Given the description of an element on the screen output the (x, y) to click on. 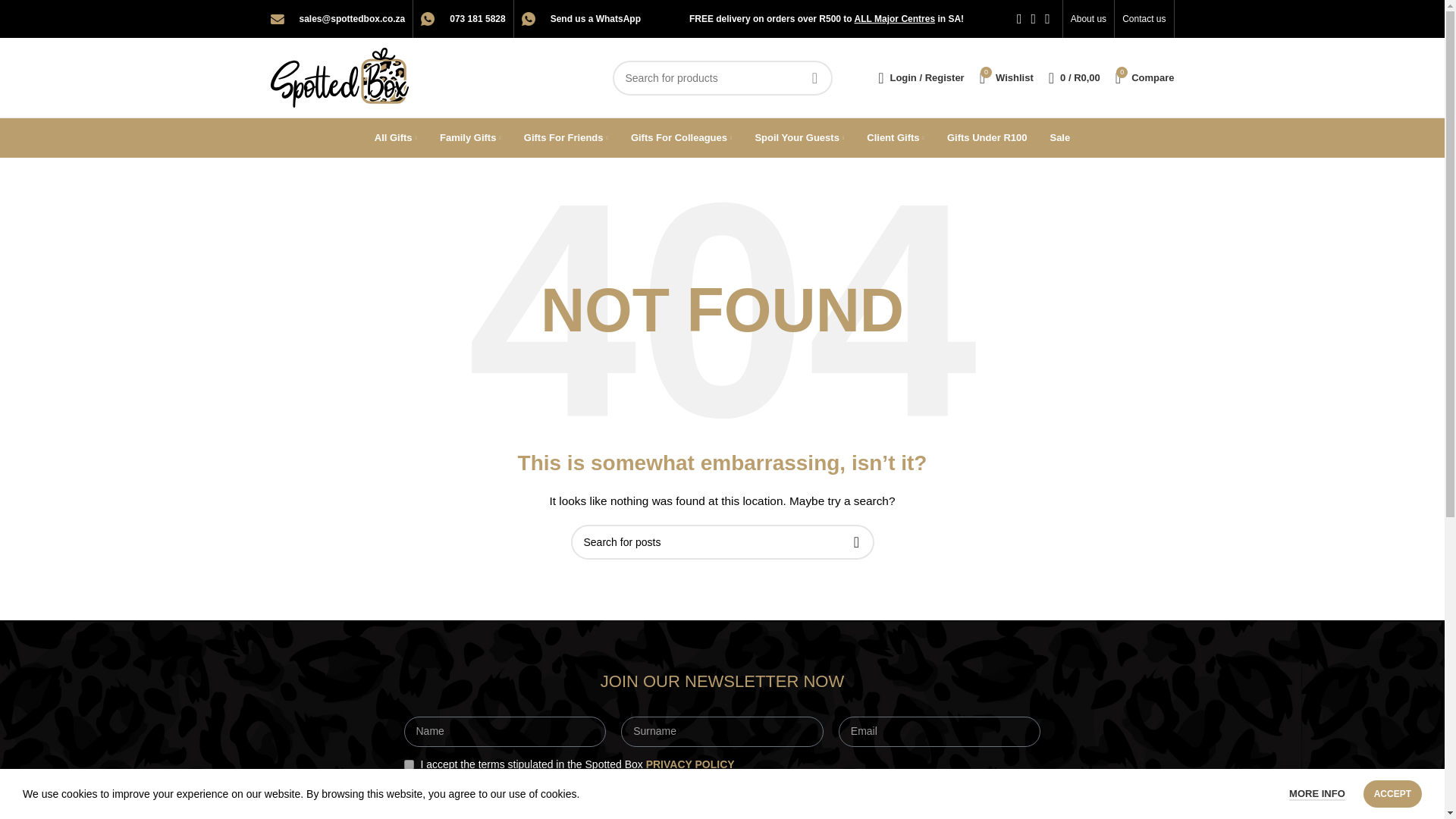
073 181 5828 (477, 18)
SEARCH (814, 77)
ALL Major Centres (894, 18)
All Gifts (1006, 77)
on (395, 137)
Shopping cart (408, 764)
My account (1145, 77)
About us (1074, 77)
My Wishlist (921, 77)
Compare products (1088, 18)
Contact us (1006, 77)
Send us a WhatsApp (1145, 77)
Search for products (1144, 18)
